Given the description of an element on the screen output the (x, y) to click on. 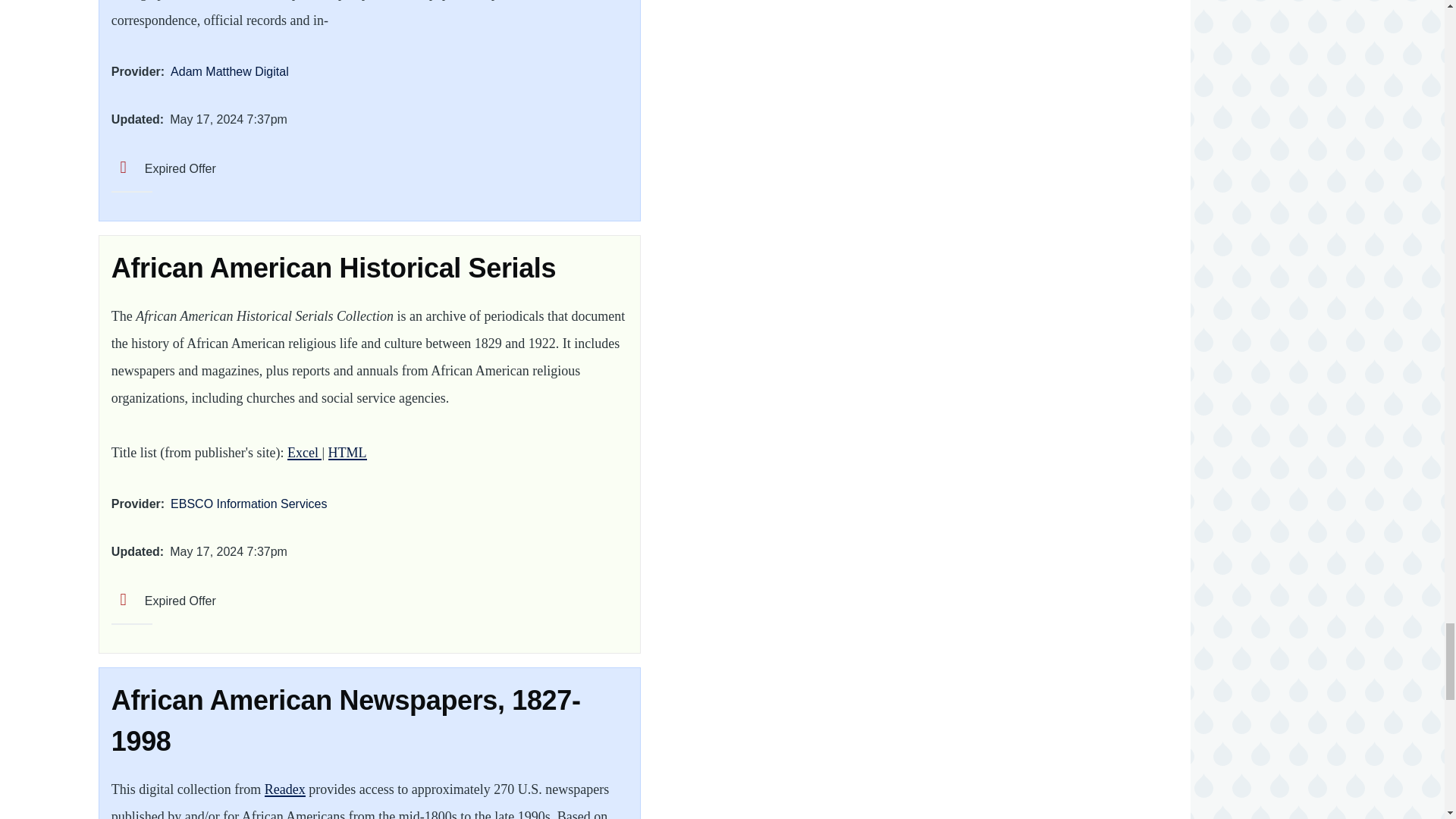
Expired Offer (163, 168)
Expired Offer (163, 600)
